Given the description of an element on the screen output the (x, y) to click on. 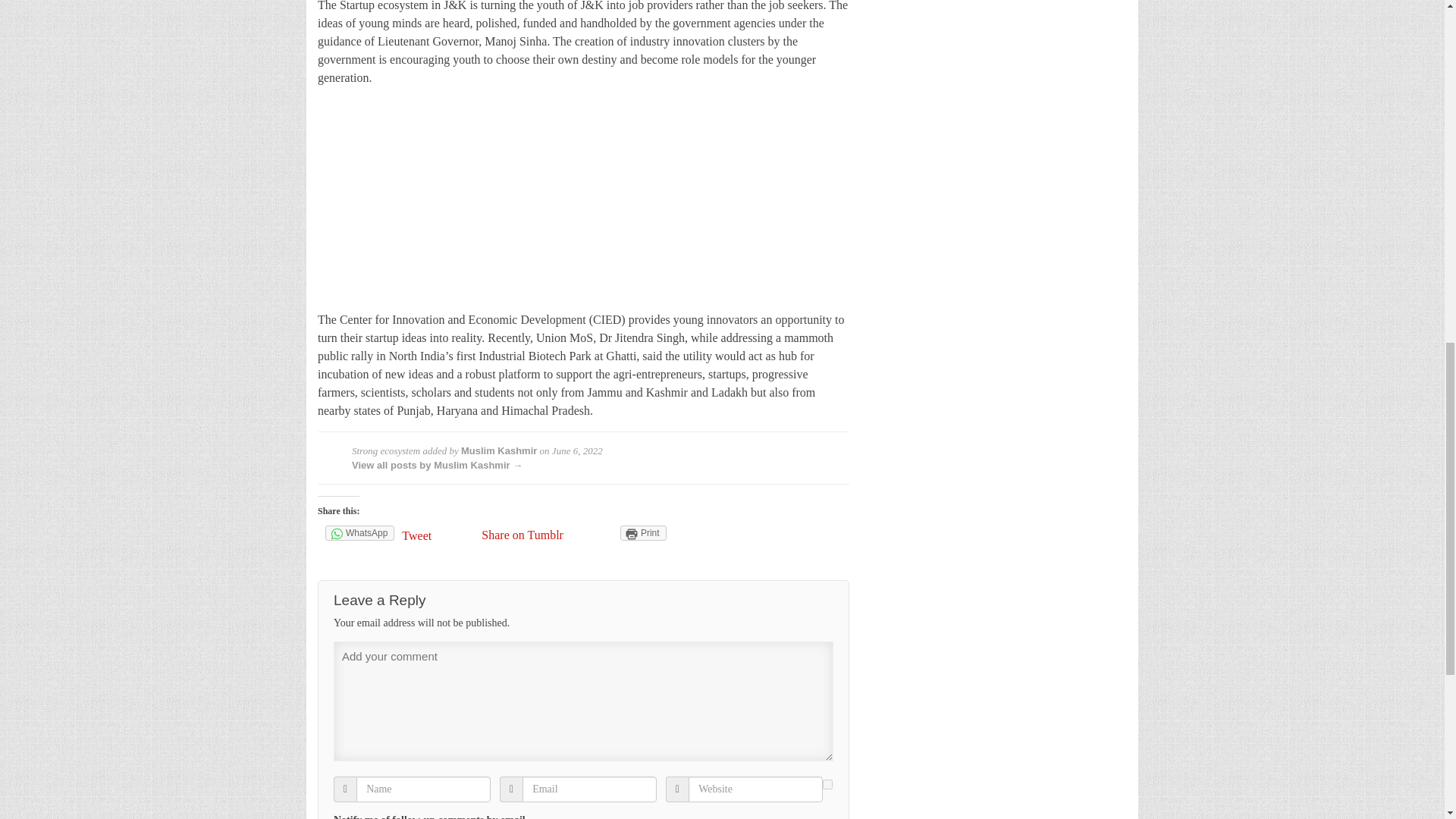
Muslim Kashmir (499, 450)
Advertisement (582, 204)
WhatsApp (359, 532)
Print (643, 532)
Share on Tumblr (522, 534)
Click to print (643, 532)
Tweet (437, 535)
Click to share on WhatsApp (359, 532)
subscribe (827, 784)
Share on Tumblr (522, 534)
